Given the description of an element on the screen output the (x, y) to click on. 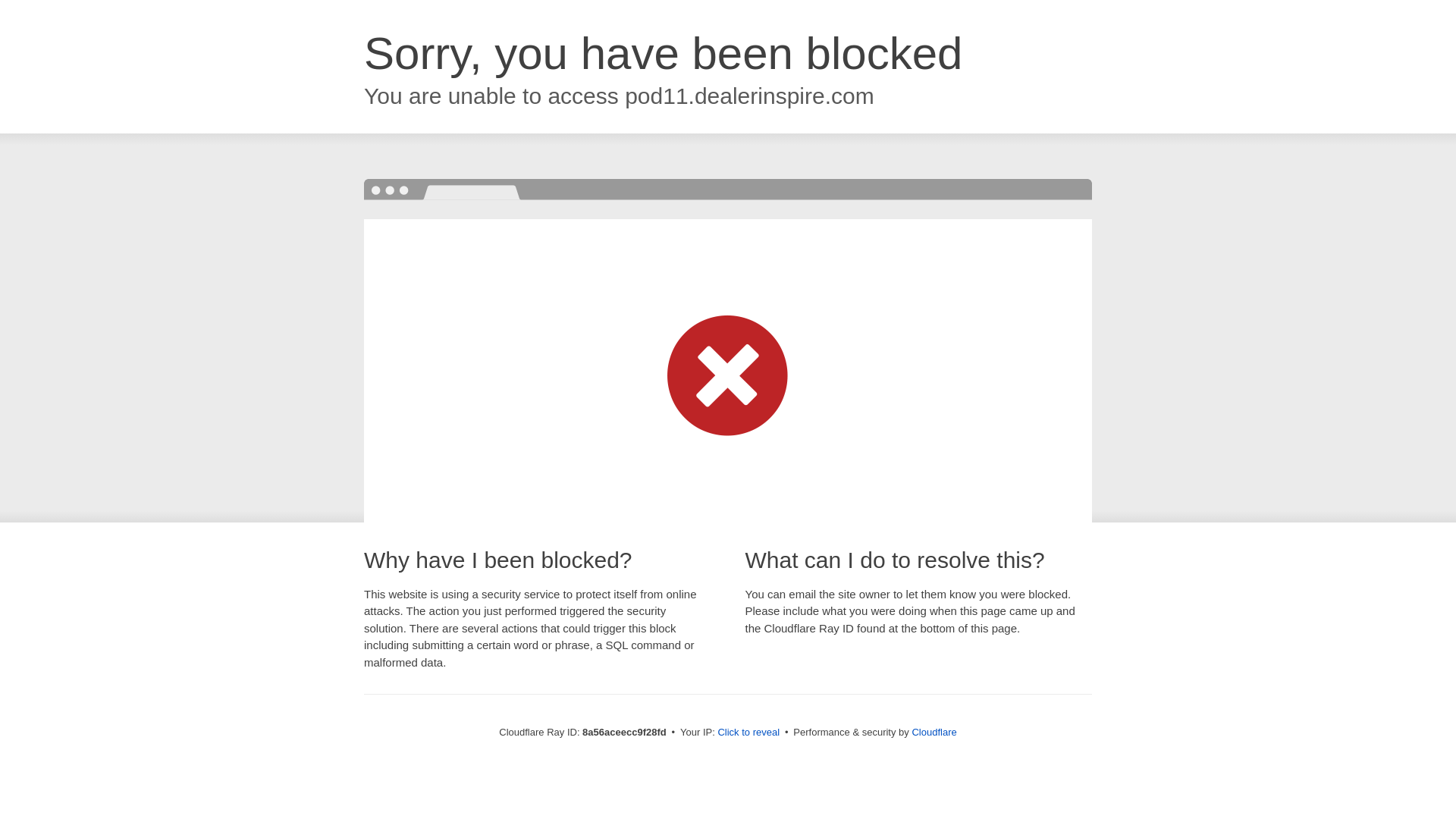
Click to reveal (747, 732)
Cloudflare (933, 731)
